Given the description of an element on the screen output the (x, y) to click on. 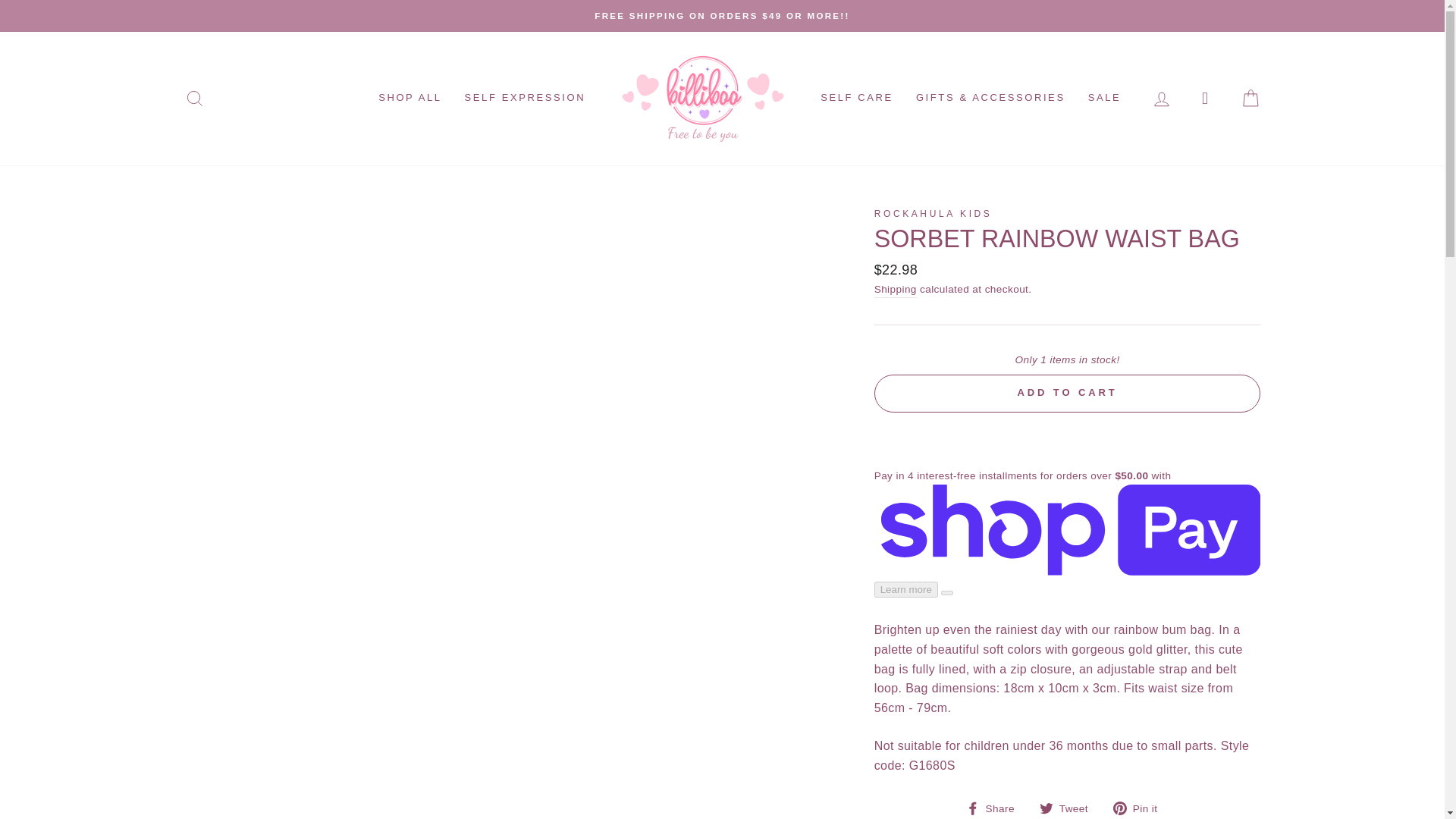
Tweet on Twitter (1069, 808)
Pin on Pinterest (1141, 808)
Share on Facebook (996, 808)
Rockahula Kids (933, 213)
